Given the description of an element on the screen output the (x, y) to click on. 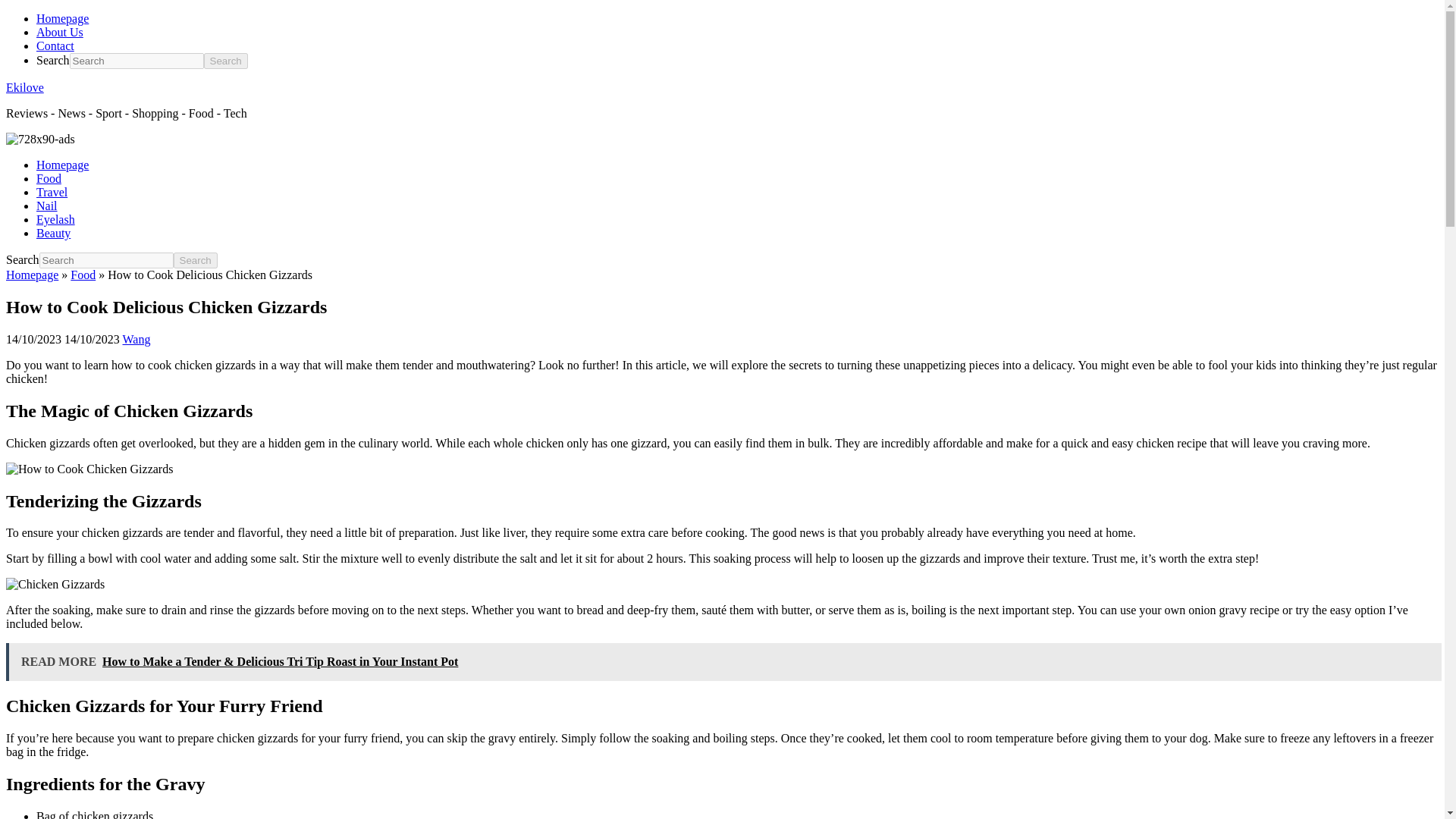
Search (225, 60)
Wang (136, 338)
Contact (55, 45)
Search (194, 260)
Search (194, 260)
About Us (59, 31)
Travel (51, 192)
Search (225, 60)
Nail (47, 205)
Search (194, 260)
